Given the description of an element on the screen output the (x, y) to click on. 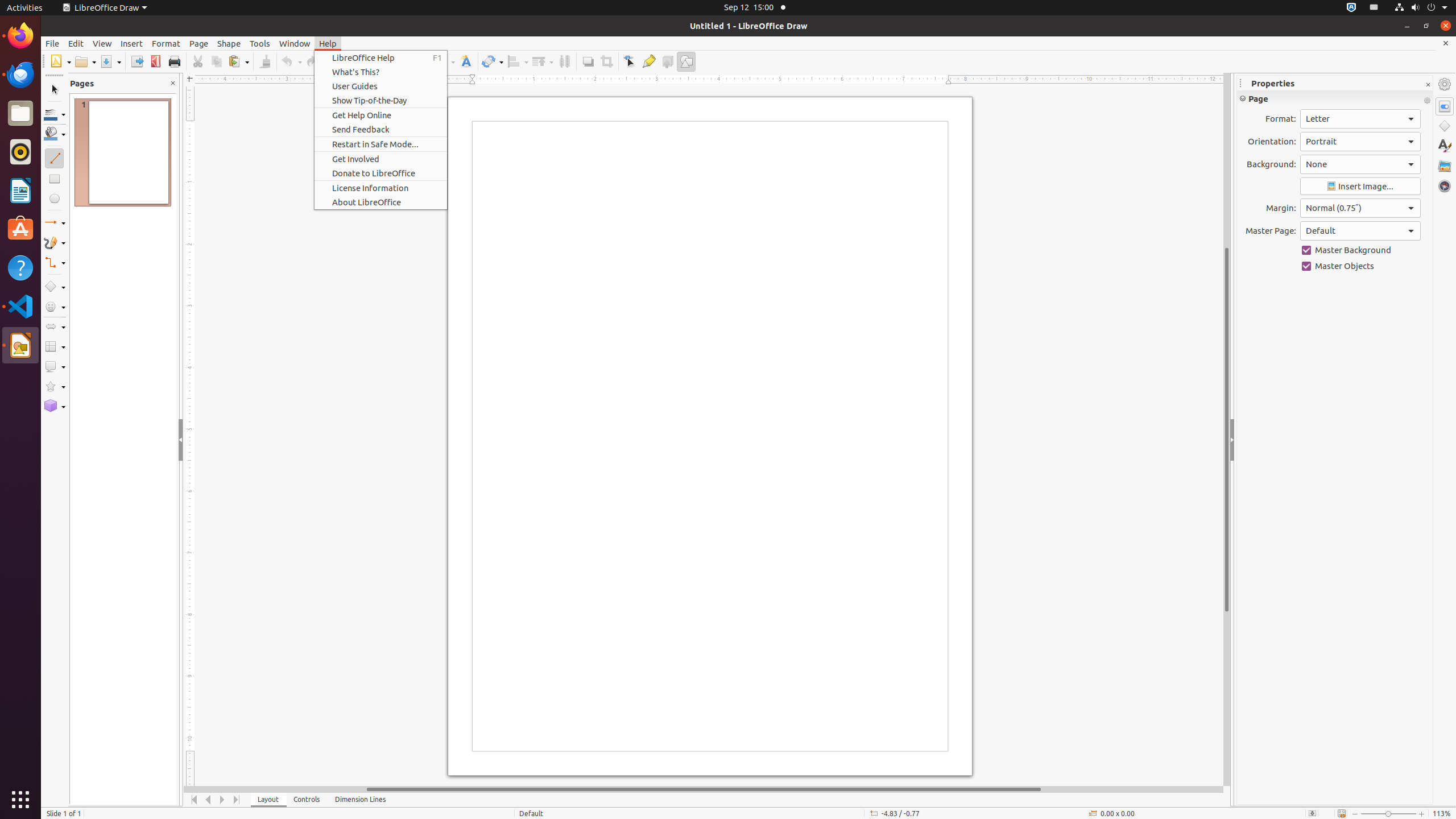
Edit Points Element type: push-button (629, 61)
Move Right Element type: push-button (222, 799)
Tools Element type: menu (259, 43)
PDF Element type: push-button (155, 61)
Donate to LibreOffice Element type: menu-item (380, 173)
